Given the description of an element on the screen output the (x, y) to click on. 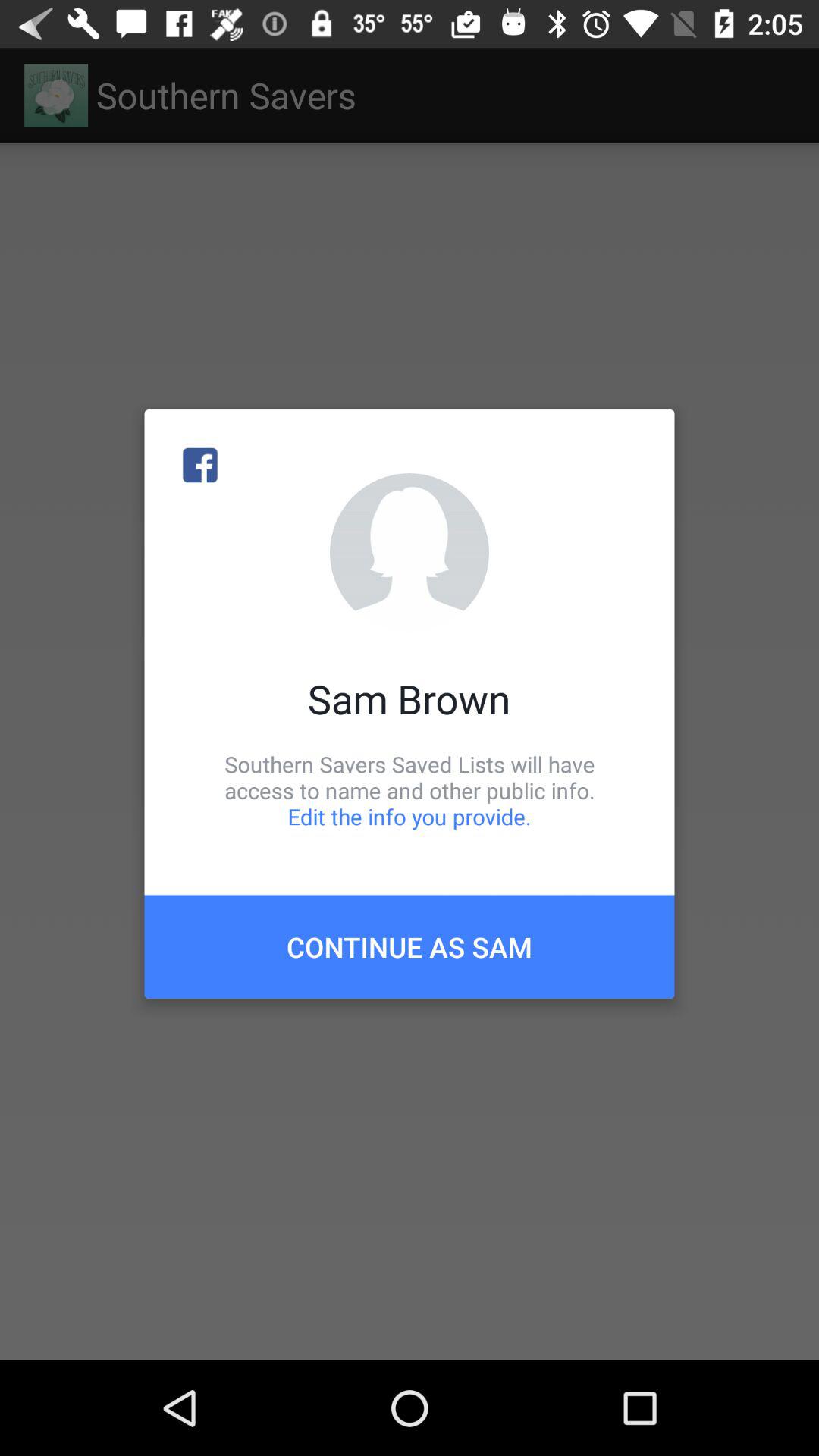
click continue as sam icon (409, 946)
